Given the description of an element on the screen output the (x, y) to click on. 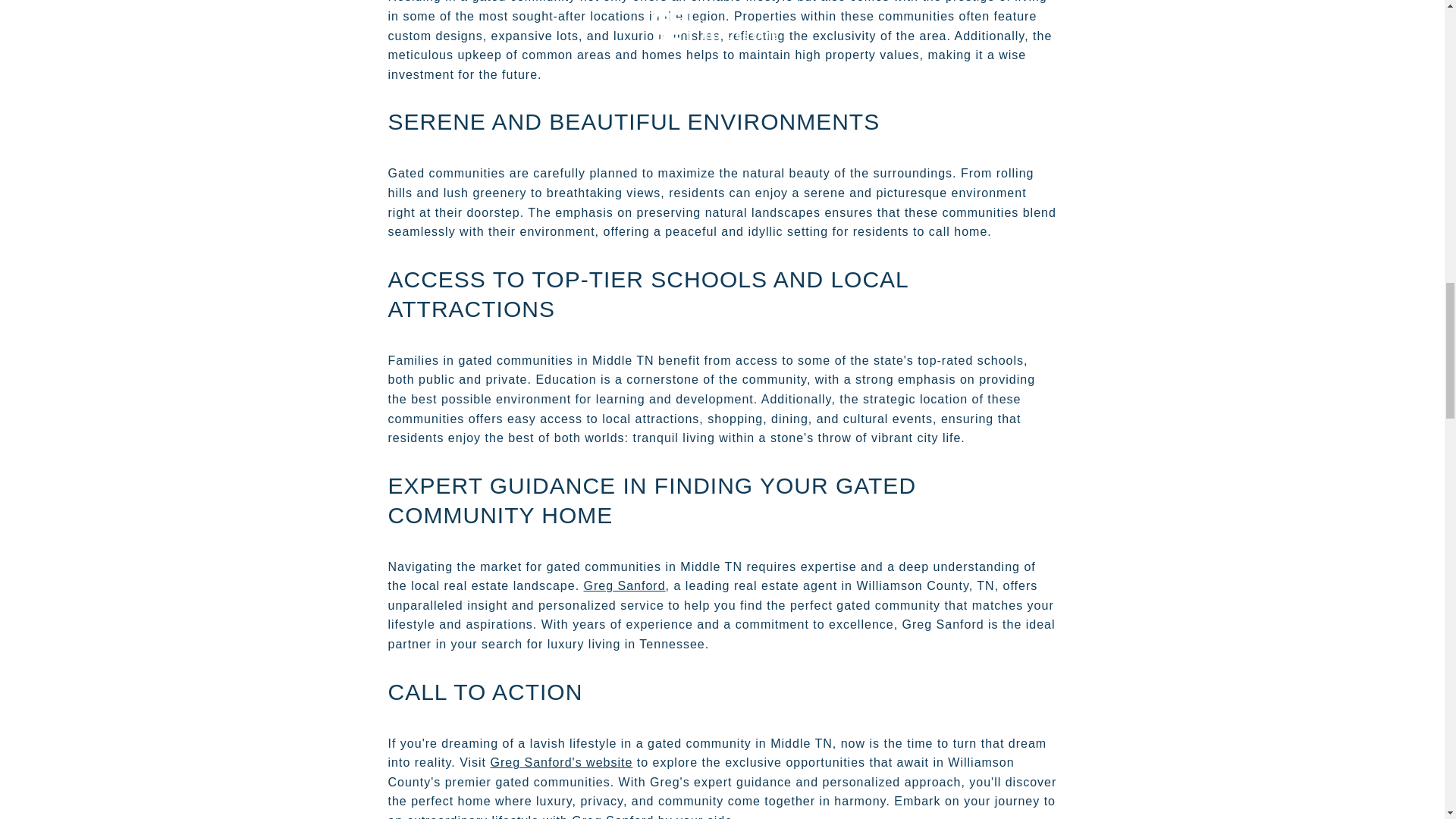
Greg Sanford (624, 585)
